Given the description of an element on the screen output the (x, y) to click on. 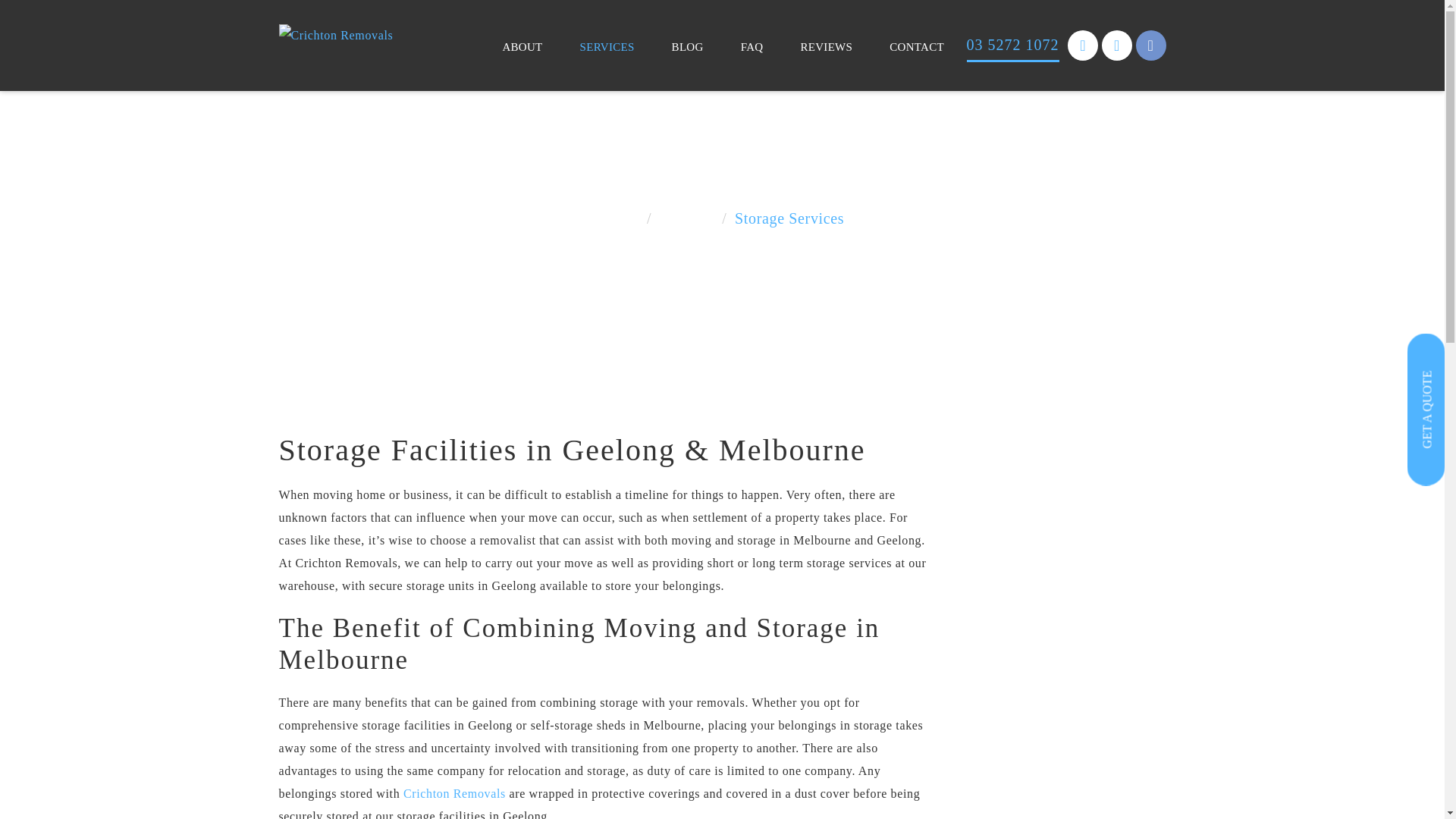
Crichton Removals Element type: text (454, 793)
CONTACT Element type: text (916, 46)
SERVICES Element type: text (607, 46)
Crichton Removals Element type: hover (336, 35)
ABOUT Element type: text (522, 46)
Services Element type: text (687, 217)
03 5272 1072 Element type: text (1012, 45)
info@crichtonremovals.com.au Element type: hover (1082, 45)
REVIEWS Element type: text (826, 46)
FAQ Element type: text (751, 46)
Home Element type: text (619, 217)
BLOG Element type: text (687, 46)
